Given the description of an element on the screen output the (x, y) to click on. 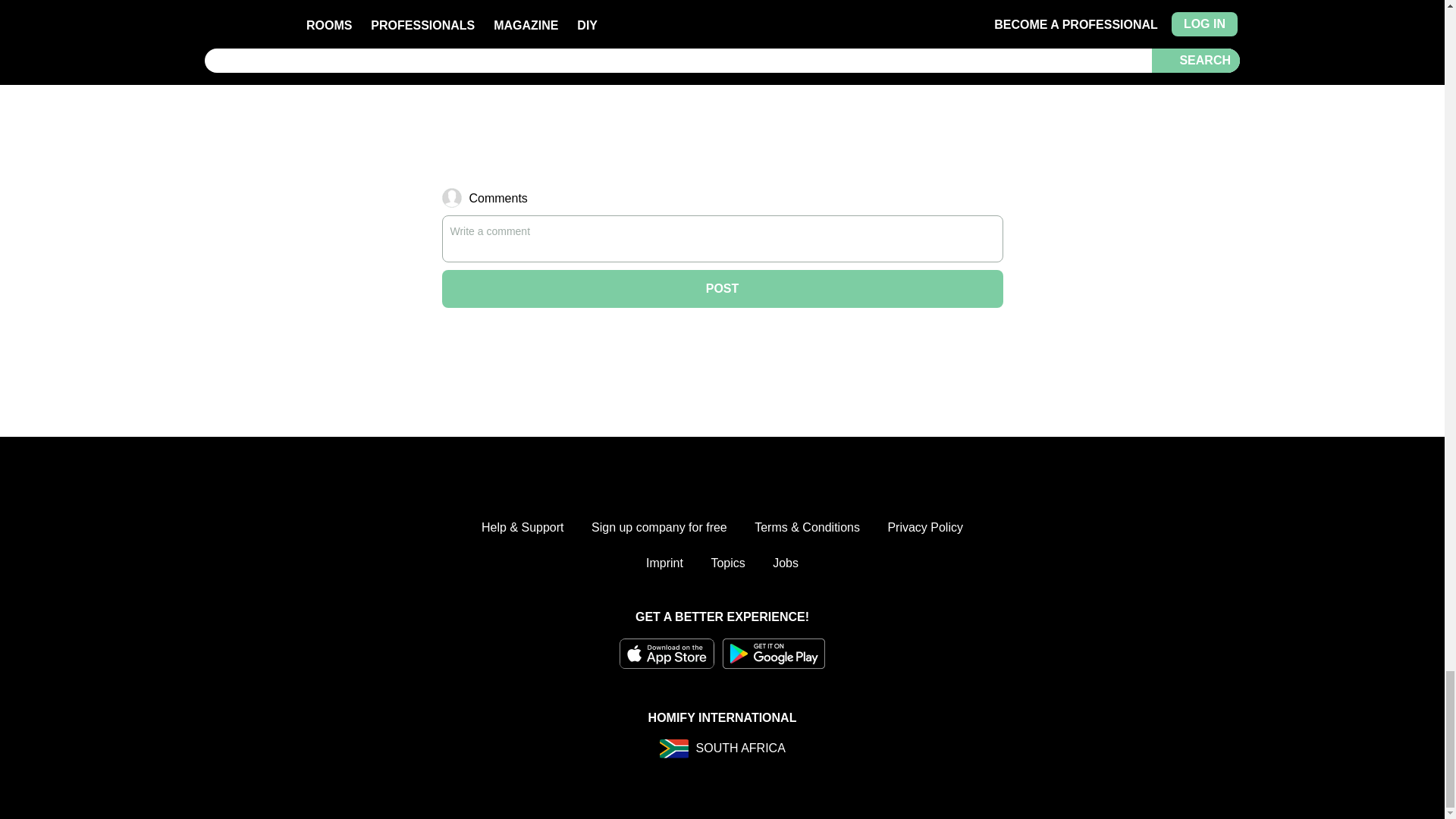
Topics (727, 563)
Post (722, 288)
Jobs (785, 563)
Post (722, 288)
Sign up company for free (658, 527)
Imprint (664, 563)
Privacy Policy (924, 527)
